Given the description of an element on the screen output the (x, y) to click on. 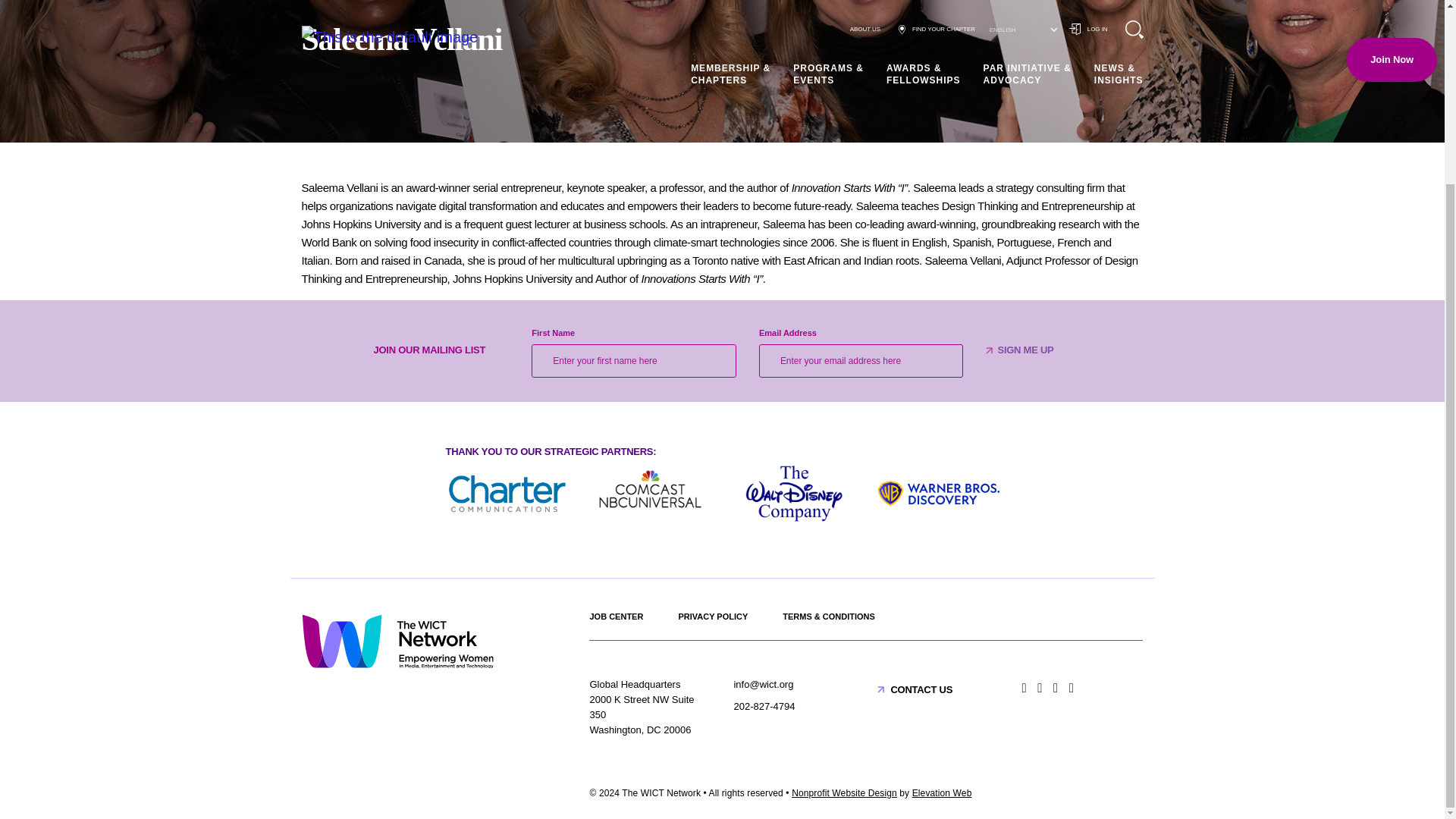
Sign Me up (1024, 350)
